Given the description of an element on the screen output the (x, y) to click on. 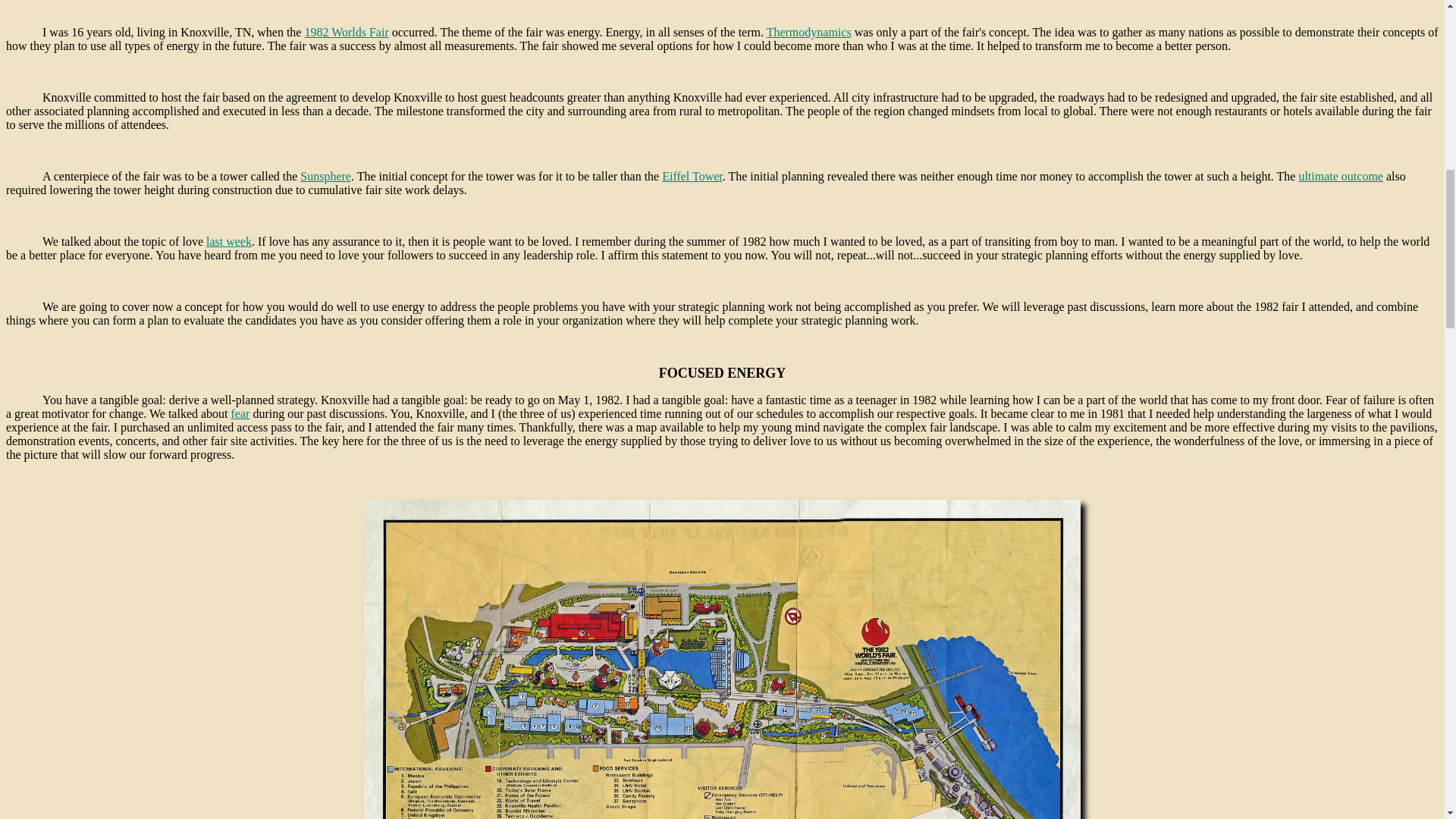
Sunsphere (324, 175)
ultimate outcome (1340, 175)
last week (228, 241)
fear (240, 413)
1982 Worlds Fair (346, 31)
Eiffel Tower (692, 175)
Thermodynamics (809, 31)
